Given the description of an element on the screen output the (x, y) to click on. 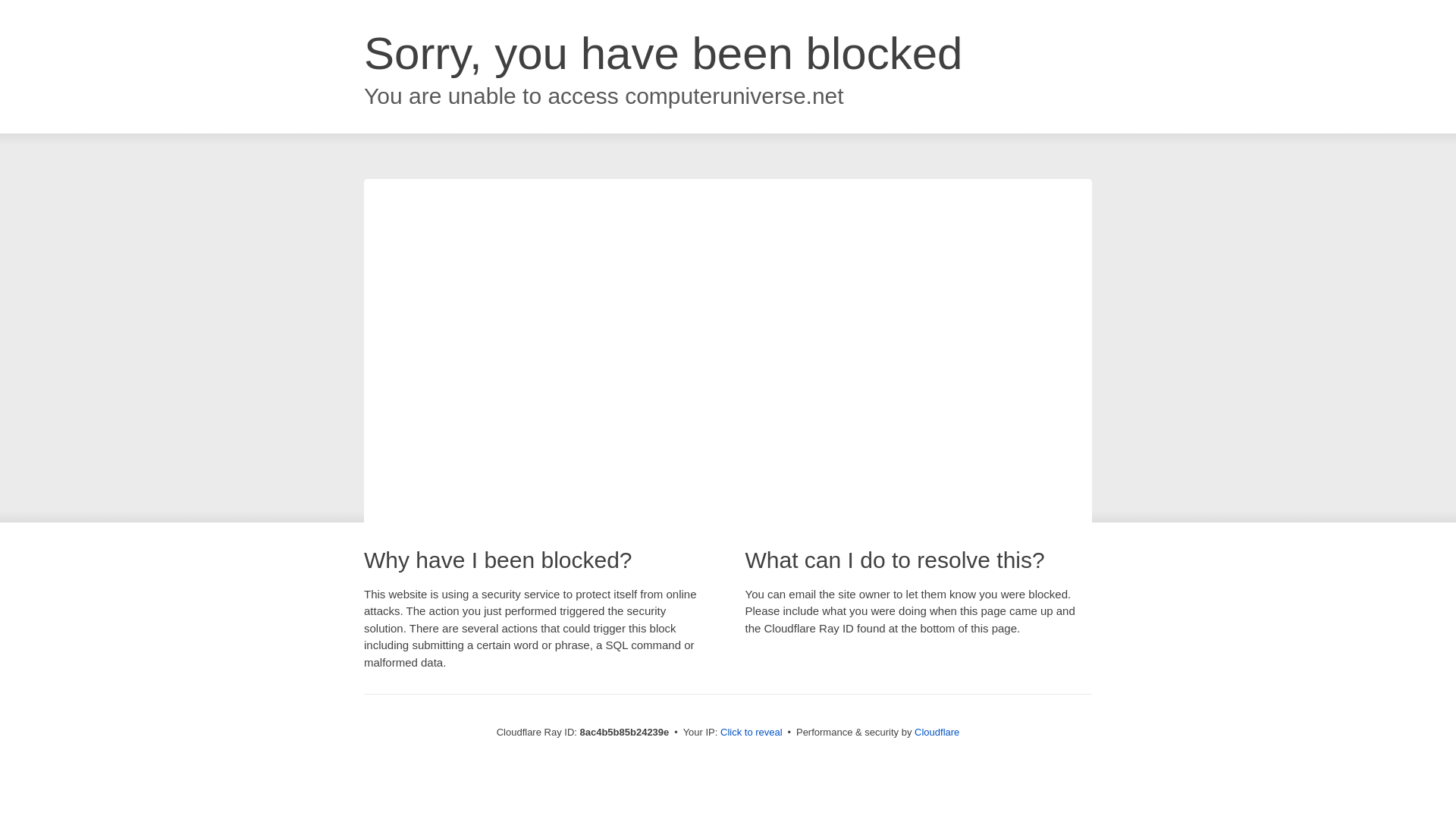
Click to reveal (751, 732)
Cloudflare (936, 731)
